Given the description of an element on the screen output the (x, y) to click on. 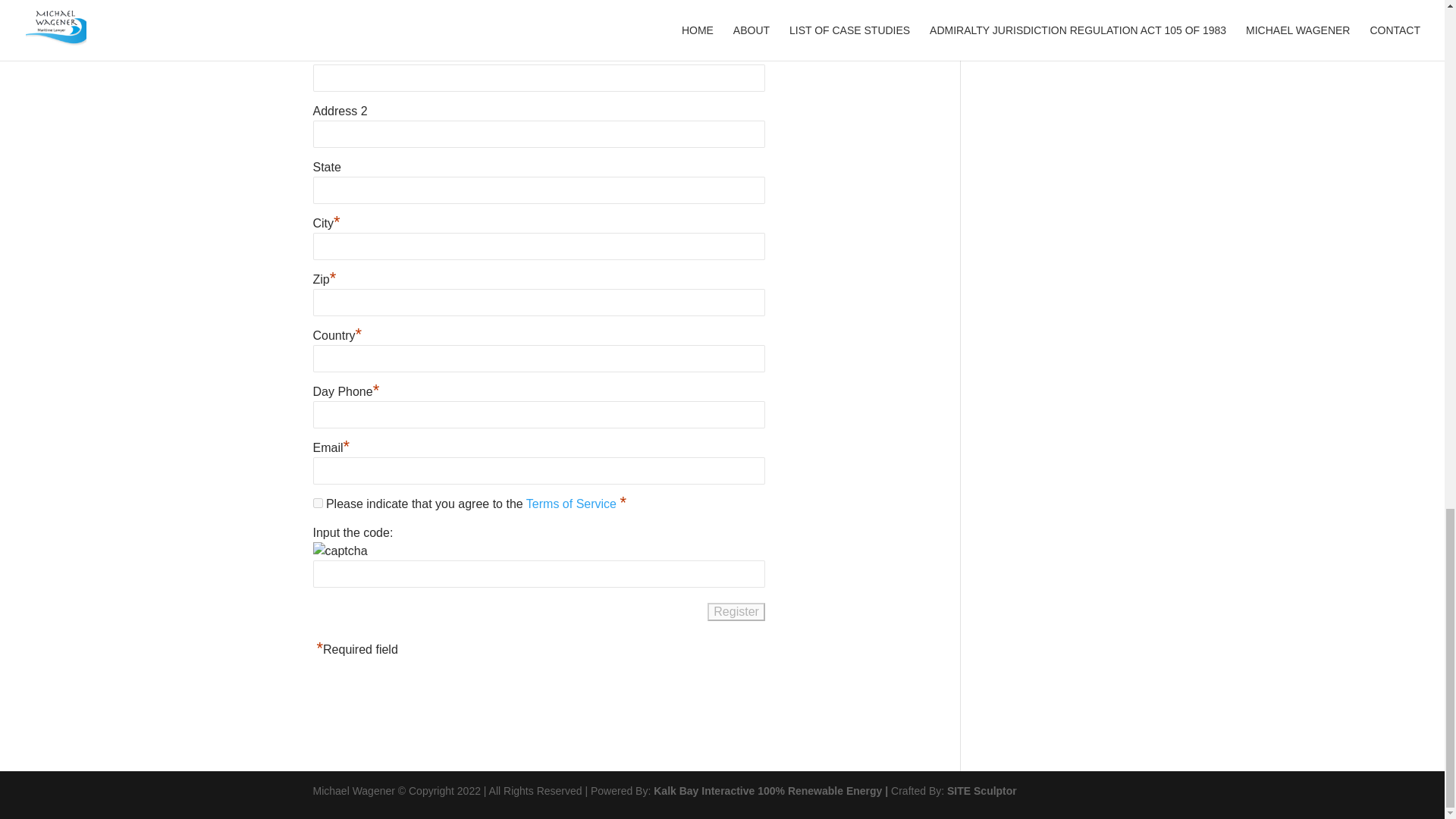
Terms of Service (572, 502)
SITE Sculptor (981, 790)
Register (736, 611)
Register (736, 611)
agree (317, 502)
